Given the description of an element on the screen output the (x, y) to click on. 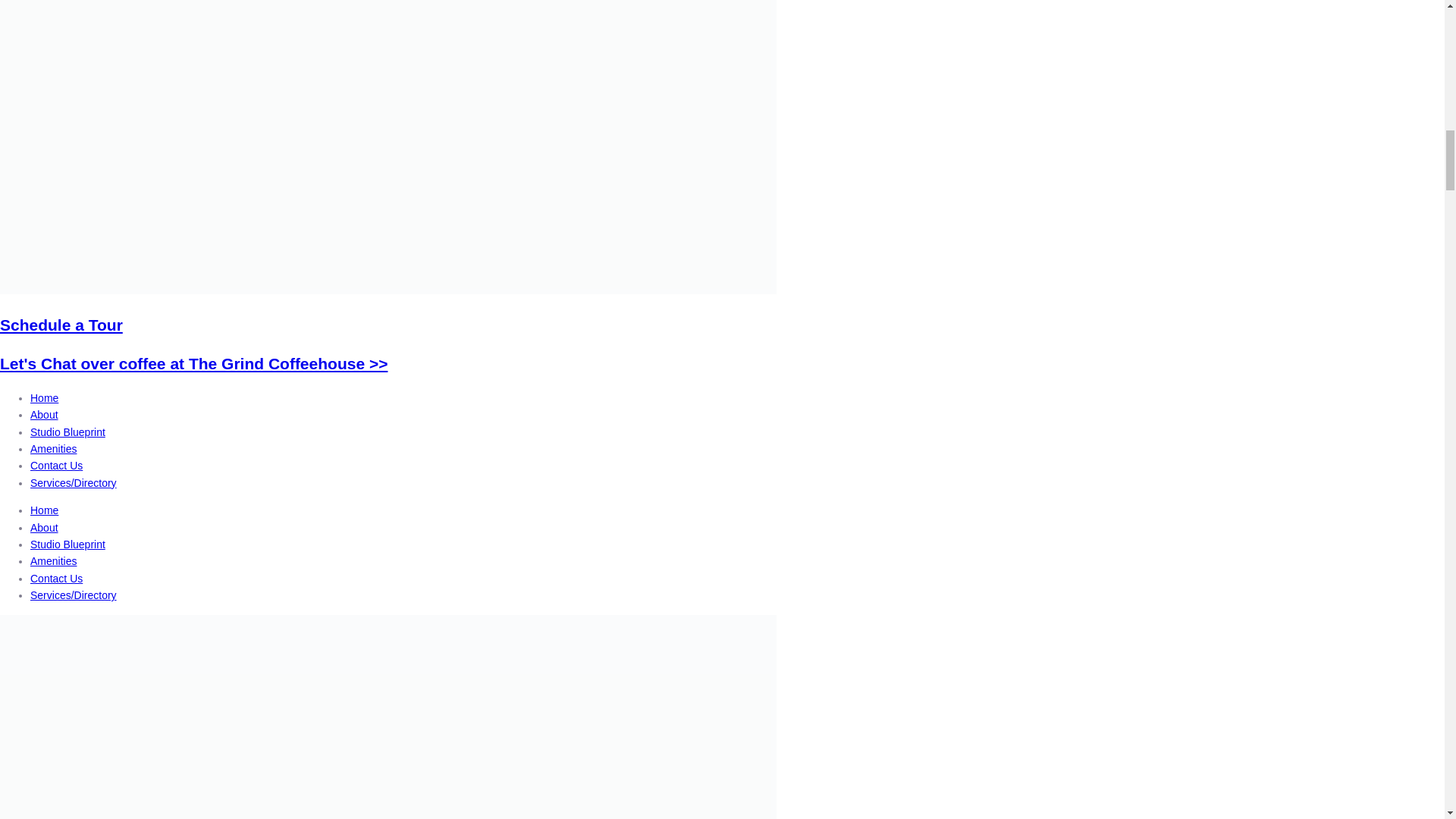
Home (44, 398)
Studio Blueprint (67, 431)
About (44, 414)
Contact Us (56, 465)
Home (44, 510)
Amenities (53, 449)
About (44, 527)
Schedule a Tour (61, 324)
